Given the description of an element on the screen output the (x, y) to click on. 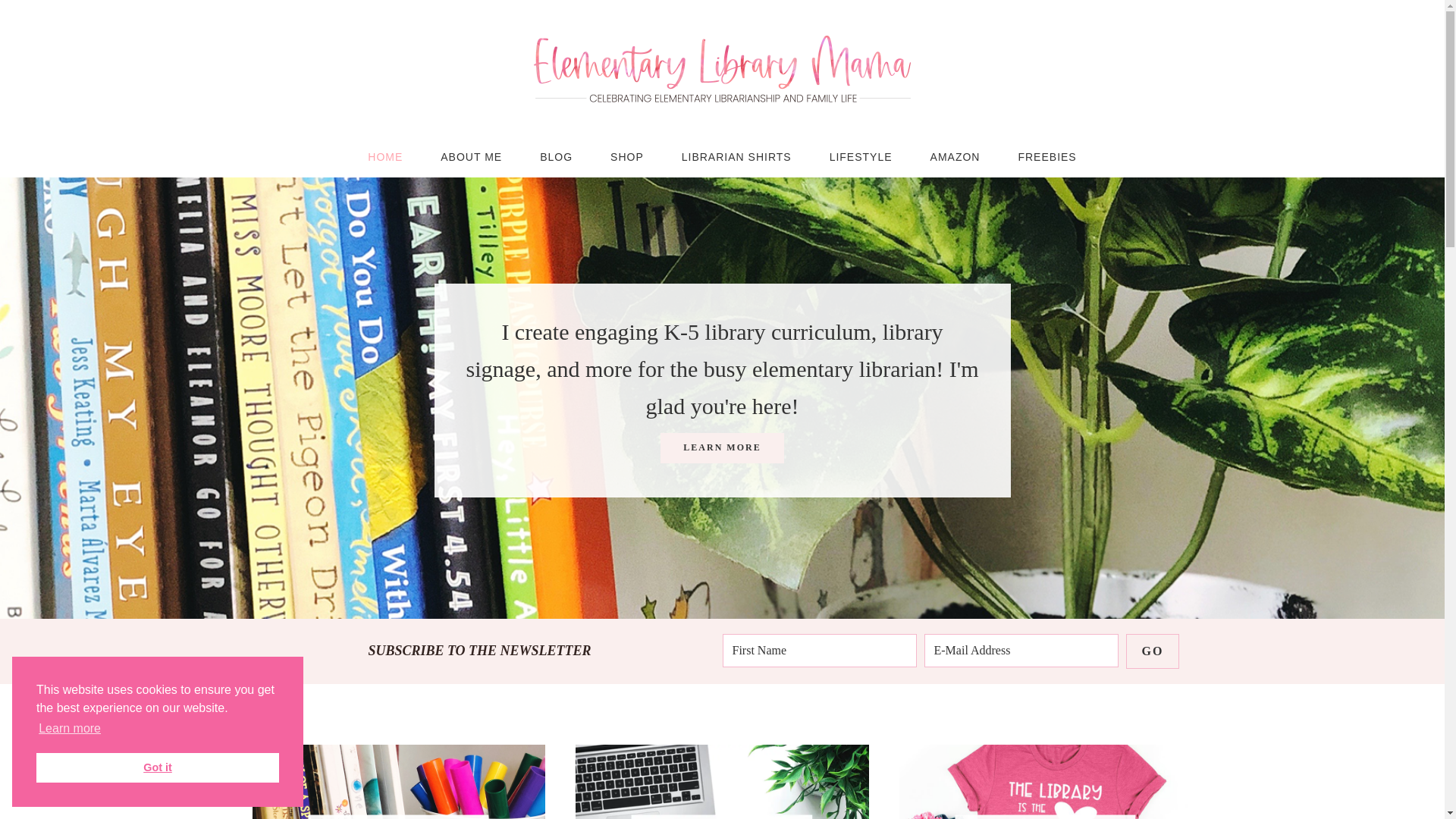
AMAZON (954, 156)
LEARN MORE (722, 448)
SHOP (626, 156)
LIFESTYLE (860, 156)
GO (1152, 651)
ABOUT ME (471, 156)
HOME (385, 156)
BLOG (556, 156)
GO (1152, 651)
LIBRARIAN SHIRTS (736, 156)
ELEMENTARY LIBRARY MAMA (721, 68)
FREEBIES (1046, 156)
